Given the description of an element on the screen output the (x, y) to click on. 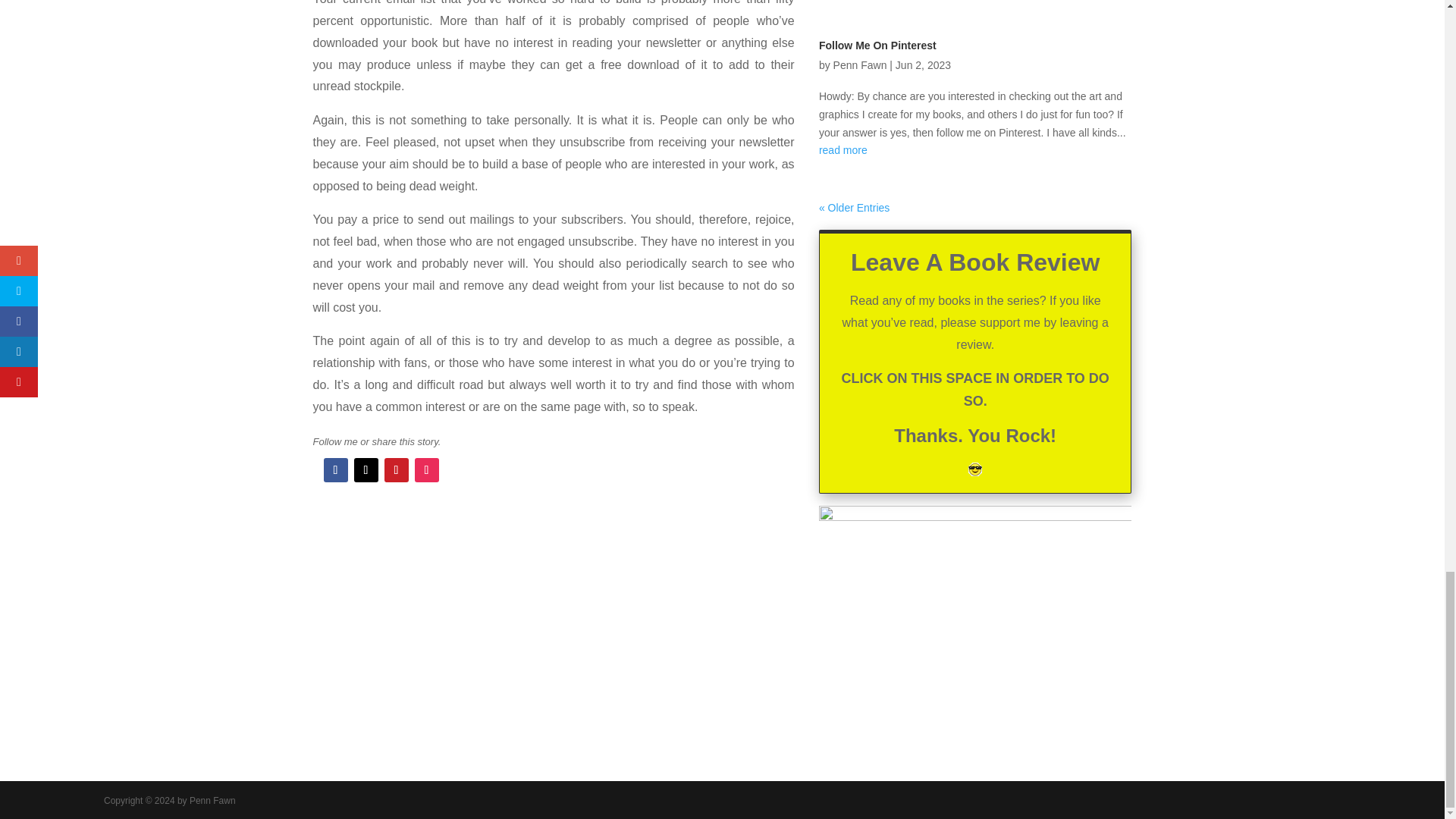
Penn Fawn (859, 64)
Follow on X (365, 469)
Follow on Pinterest (395, 469)
Follow on Instagram (425, 469)
Follow on Facebook (335, 469)
read more (975, 150)
Follow Me On Pinterest (877, 45)
Posts by Penn Fawn (859, 64)
